Given the description of an element on the screen output the (x, y) to click on. 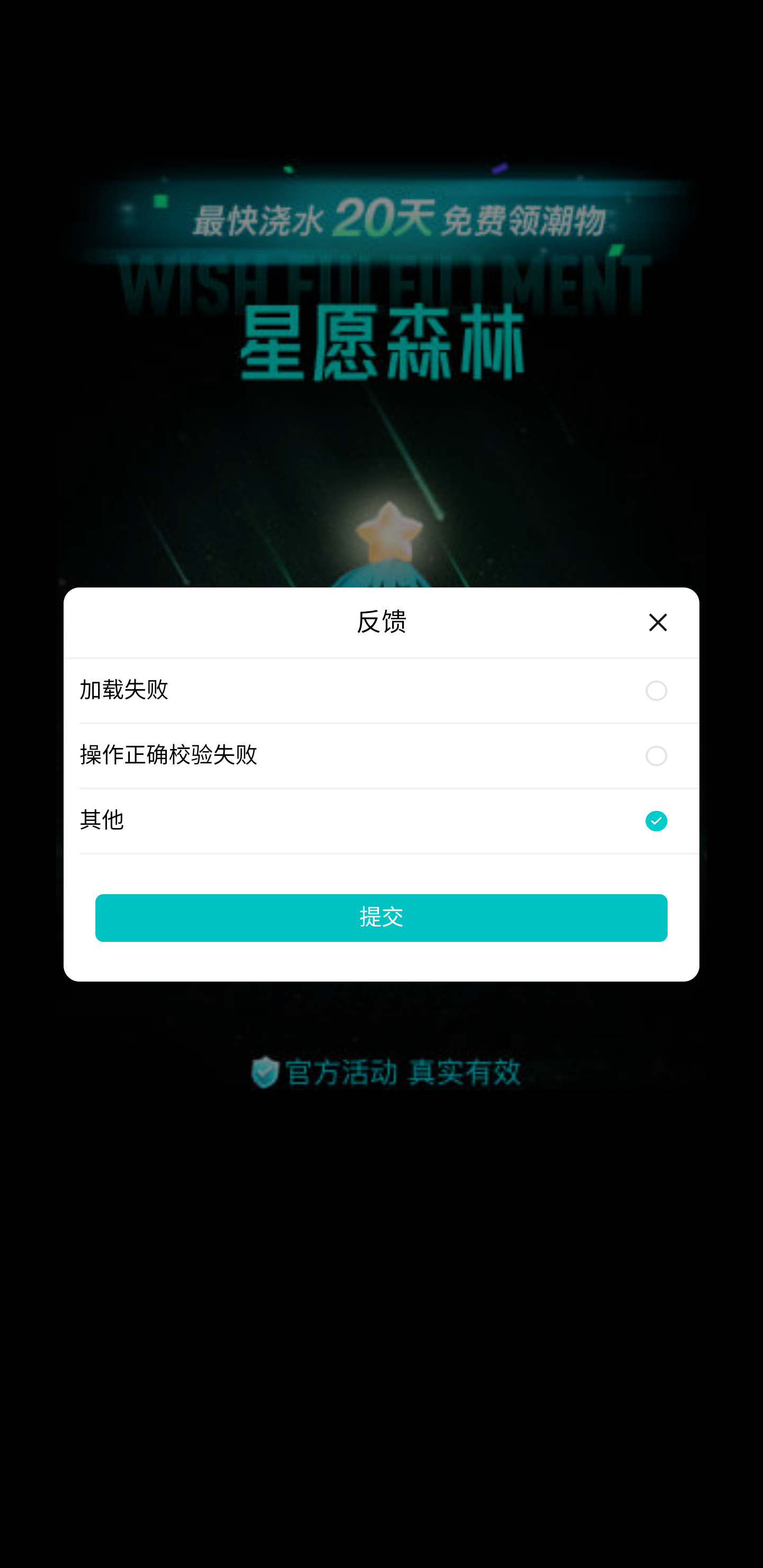
提交 (381, 917)
